Given the description of an element on the screen output the (x, y) to click on. 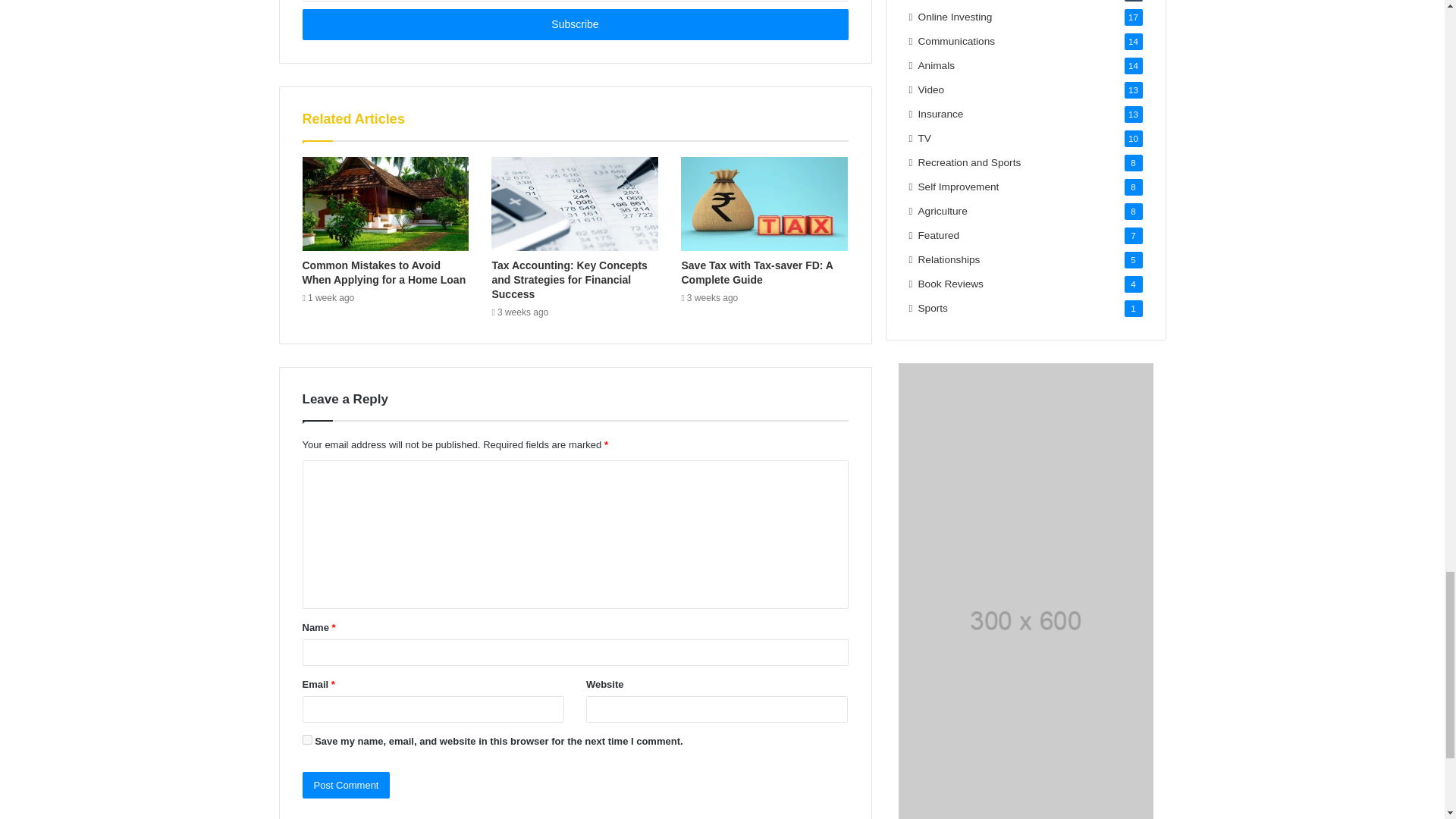
Subscribe (574, 24)
Post Comment (345, 785)
yes (306, 739)
